Given the description of an element on the screen output the (x, y) to click on. 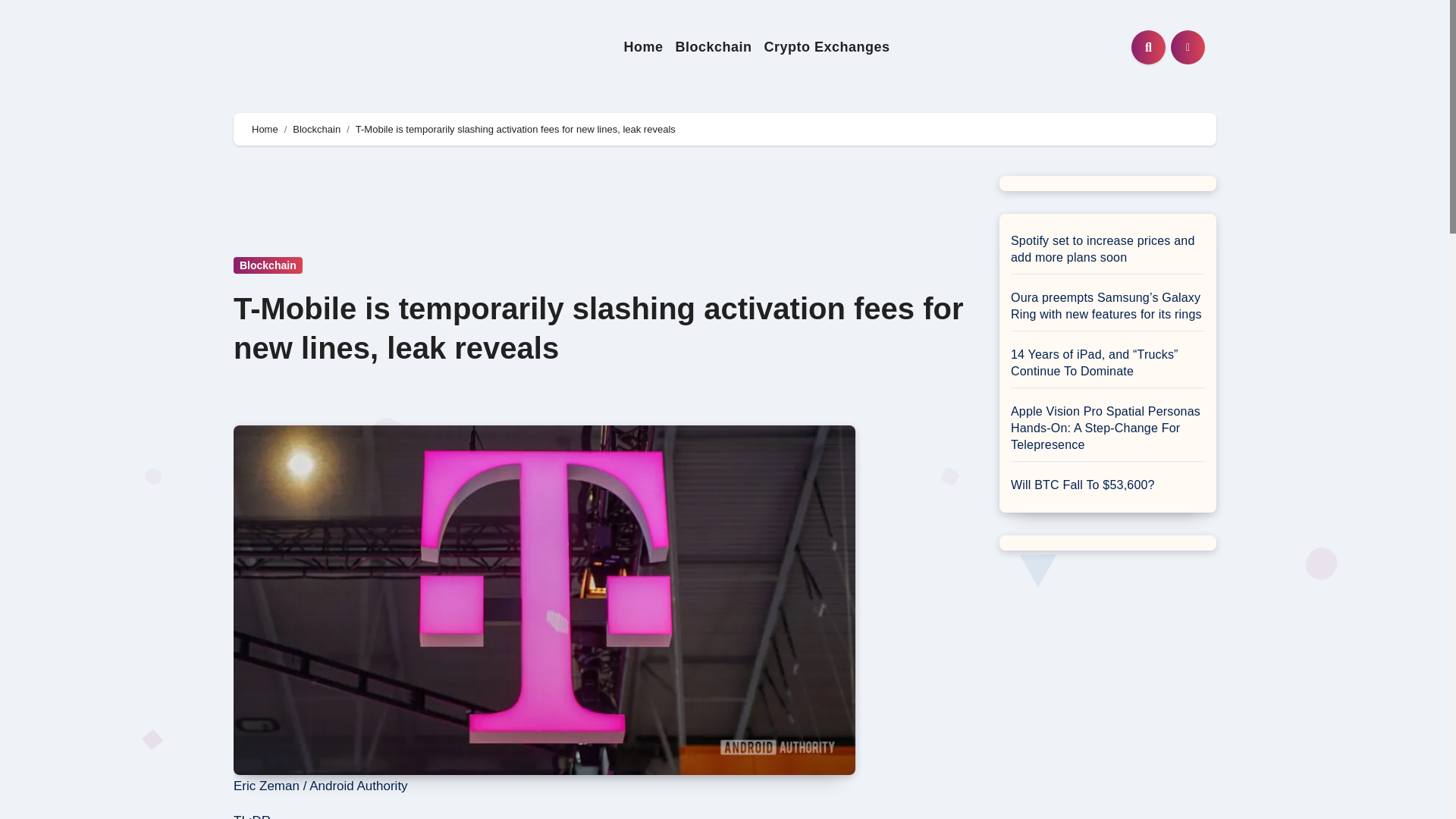
Crypto Exchanges (826, 47)
Home (642, 47)
Home (264, 129)
Blockchain (712, 47)
Blockchain (316, 129)
Crypto Exchanges (826, 47)
Blockchain (267, 265)
